Given the description of an element on the screen output the (x, y) to click on. 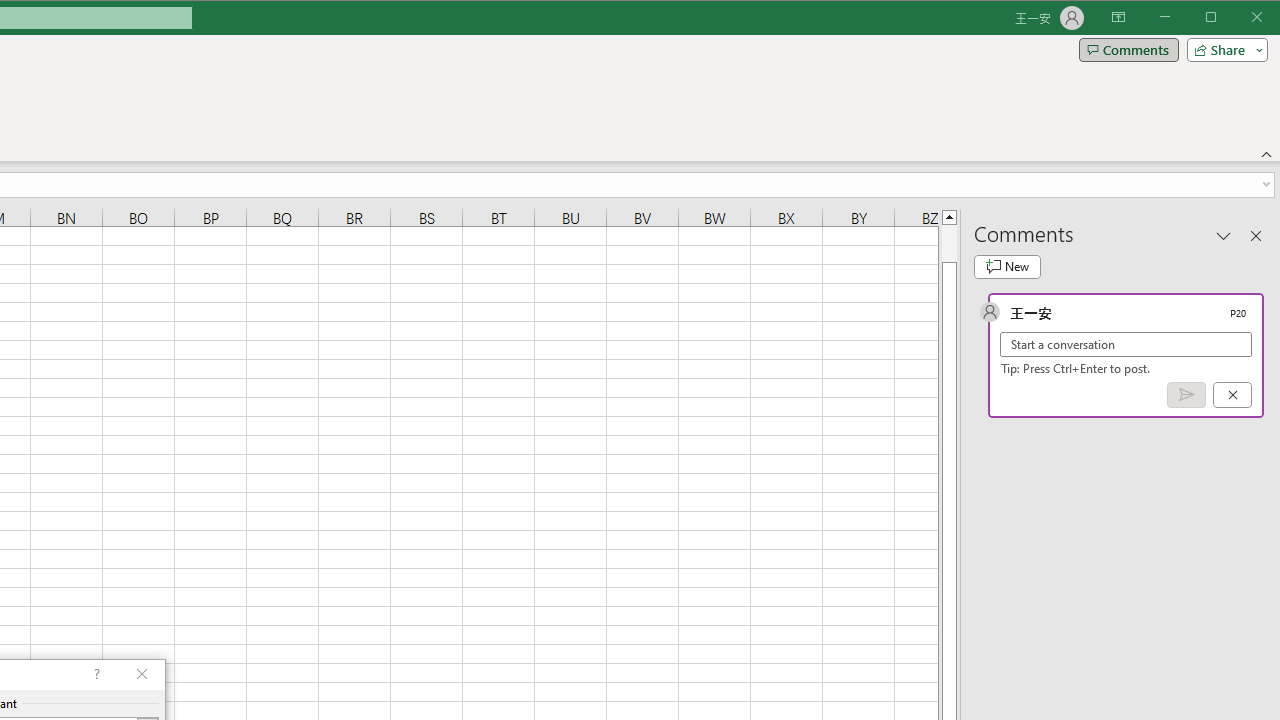
Maximize (1239, 18)
Cancel (1232, 395)
